Given the description of an element on the screen output the (x, y) to click on. 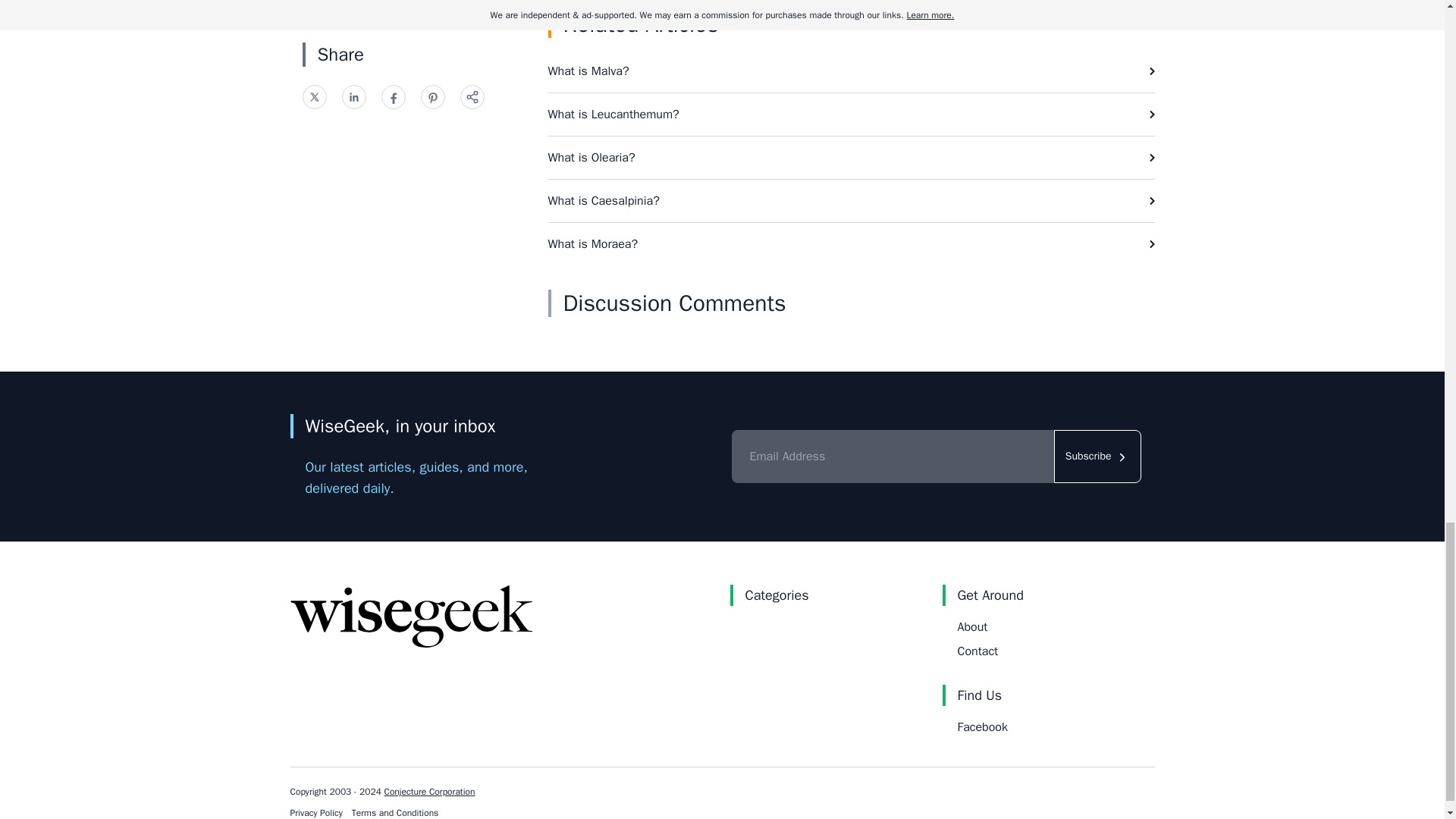
Subscribe (1097, 456)
What is Caesalpinia? (850, 200)
What is Malva? (850, 70)
What is Leucanthemum? (850, 114)
What is Moraea? (850, 243)
What is Olearia? (850, 157)
